Given the description of an element on the screen output the (x, y) to click on. 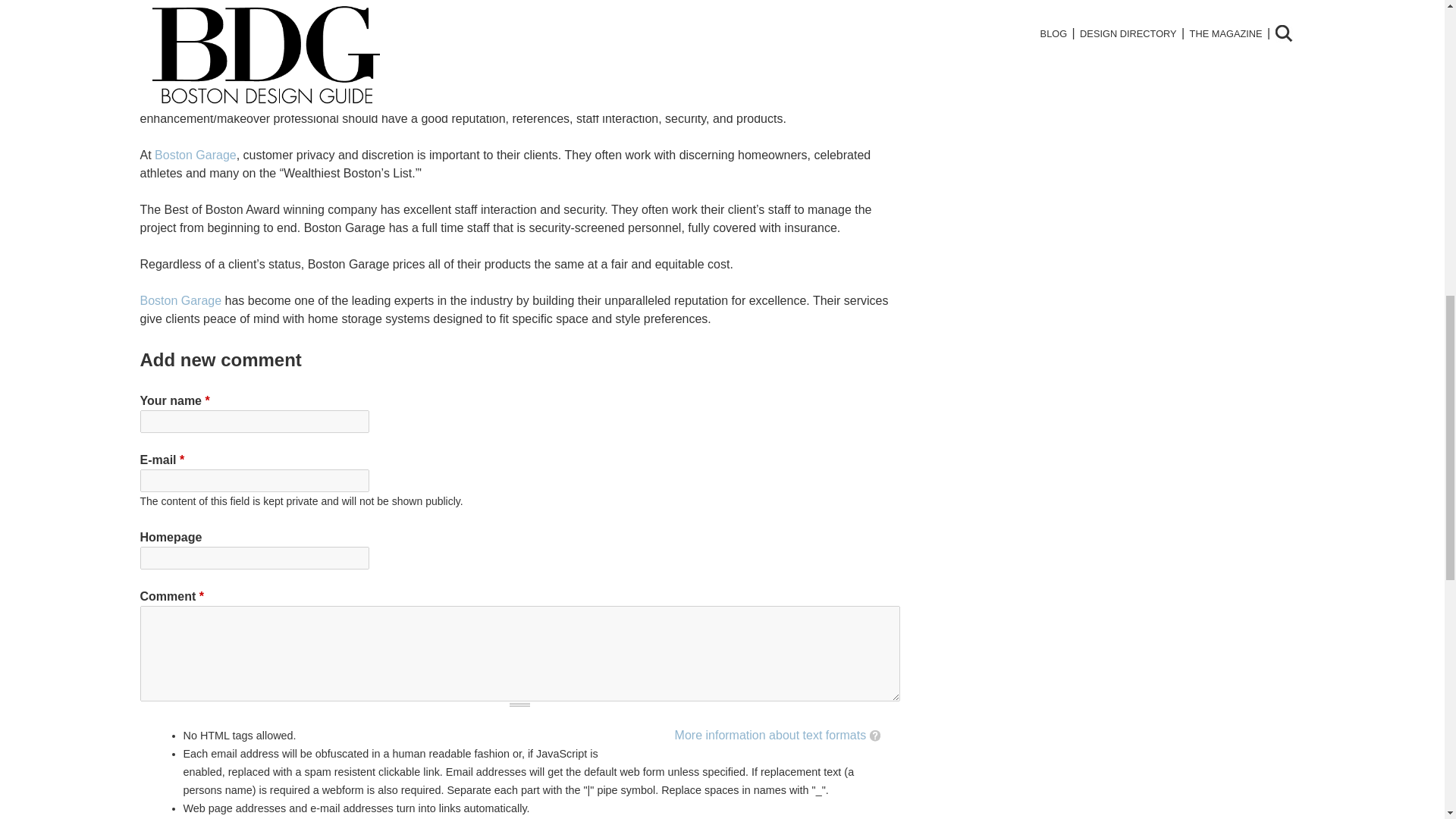
Boston Garage (180, 300)
Boston Garage (194, 154)
More information about text formats (770, 735)
